Given the description of an element on the screen output the (x, y) to click on. 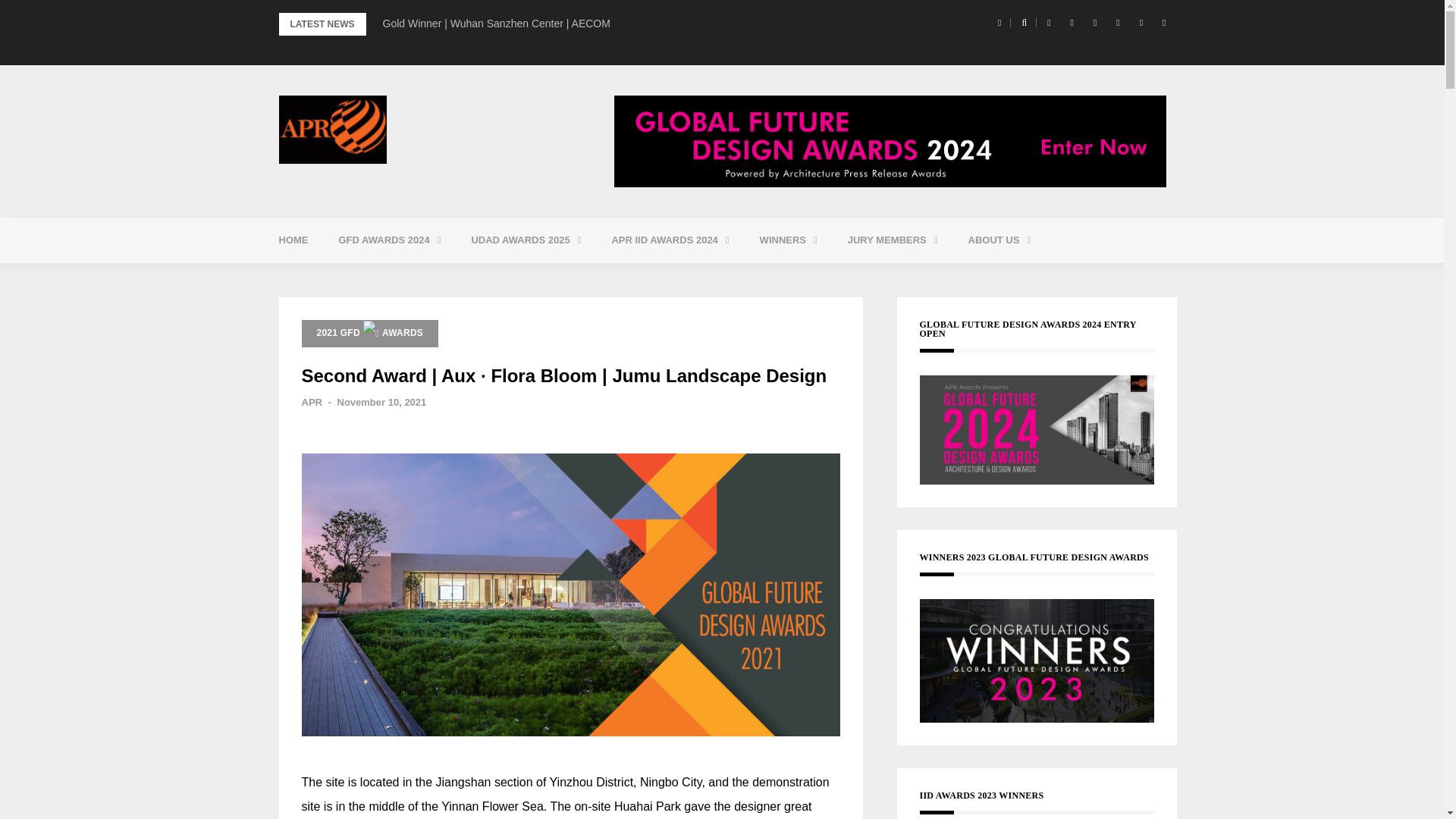
HOME (293, 239)
Home (293, 239)
GFD Awards Brief (425, 277)
GFD AWARDS 2024 (389, 239)
